Given the description of an element on the screen output the (x, y) to click on. 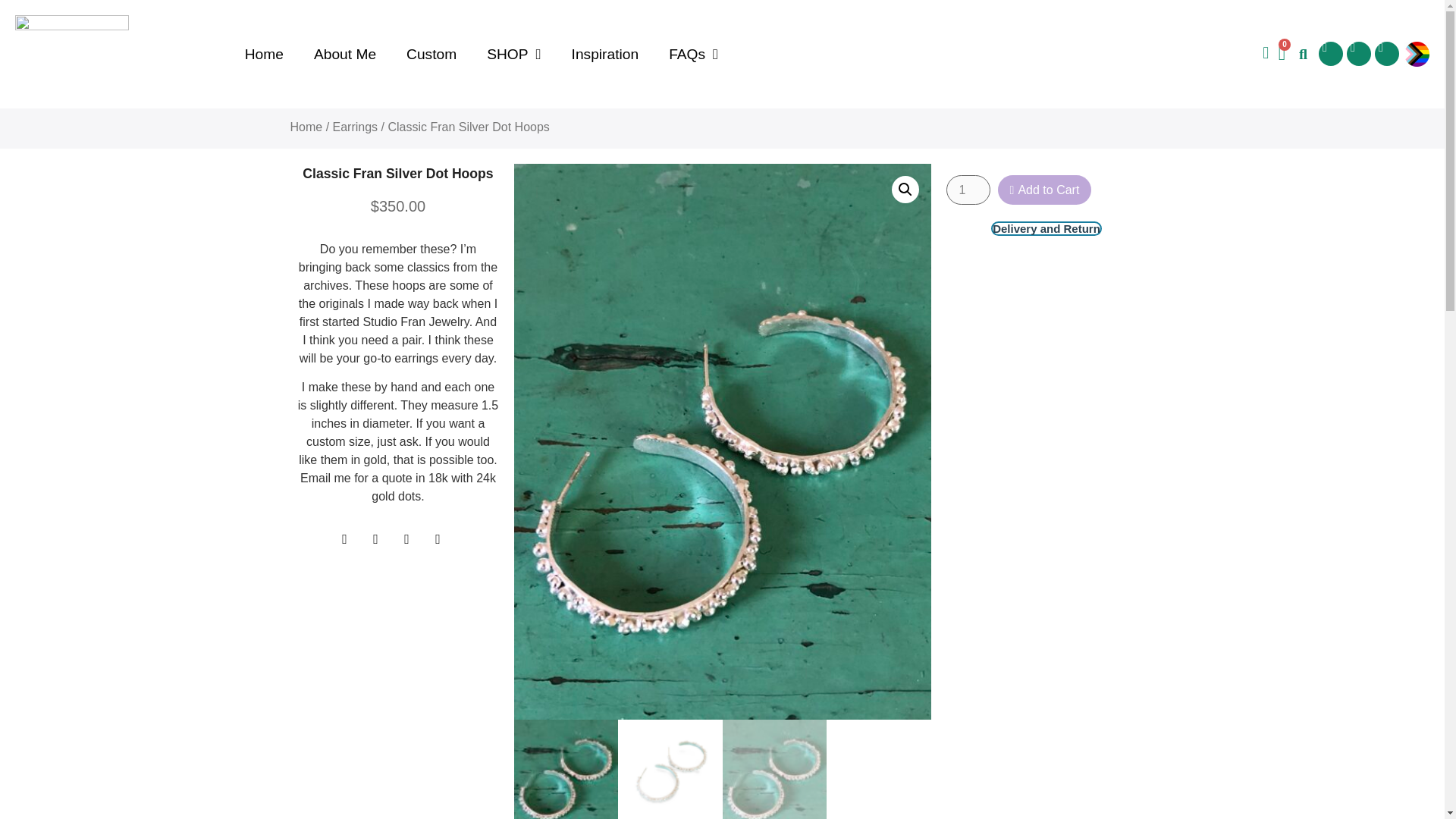
Home (264, 53)
Earrings (355, 126)
1 (968, 189)
Home (305, 126)
org-lgbt-circle-02-256 (1417, 53)
Inspiration (604, 53)
SHOP (513, 53)
FAQs (693, 53)
Custom (431, 53)
About Me (344, 53)
